Given the description of an element on the screen output the (x, y) to click on. 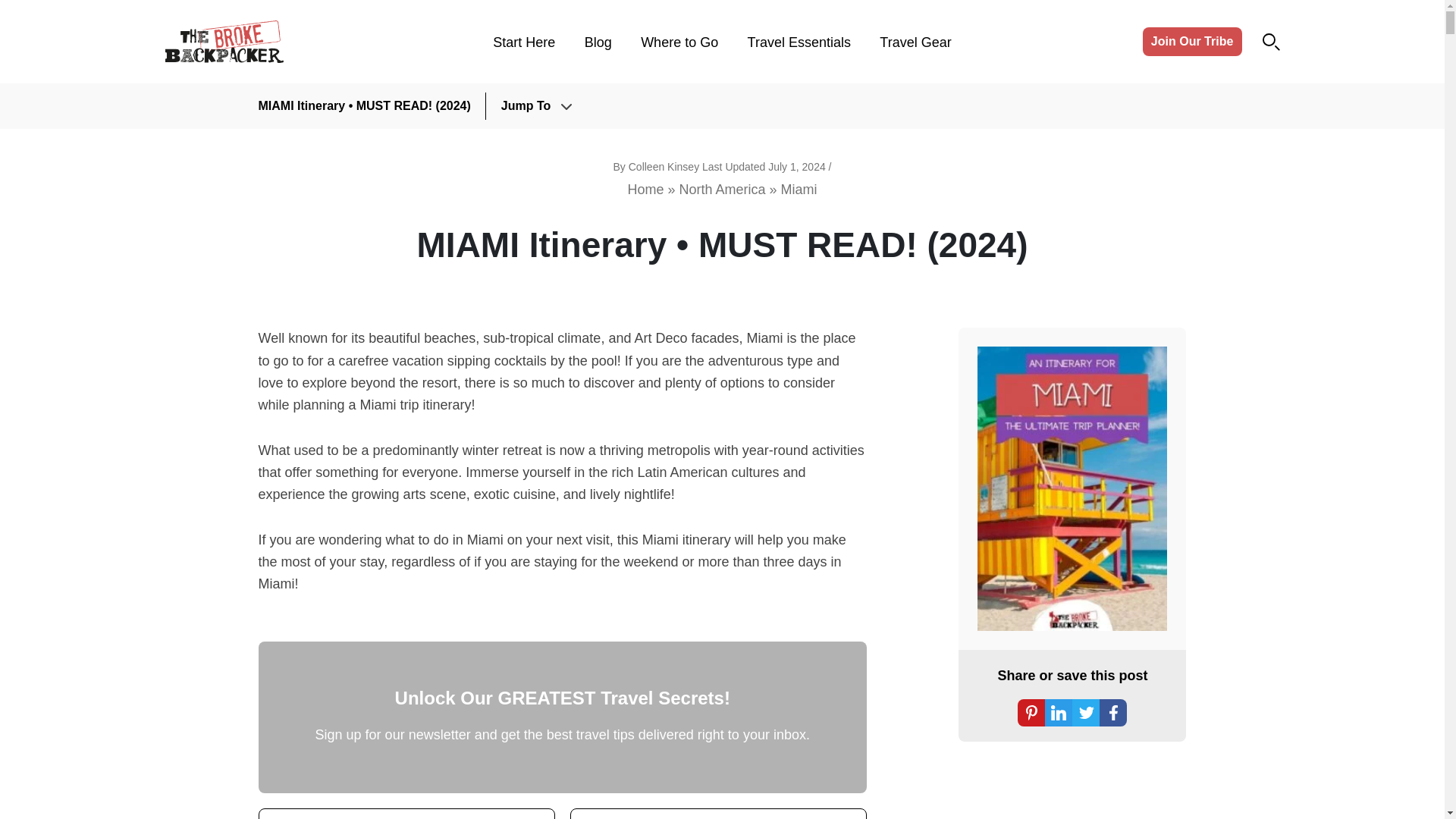
Start Here (523, 42)
Where to Go (678, 42)
Blog (598, 42)
